Given the description of an element on the screen output the (x, y) to click on. 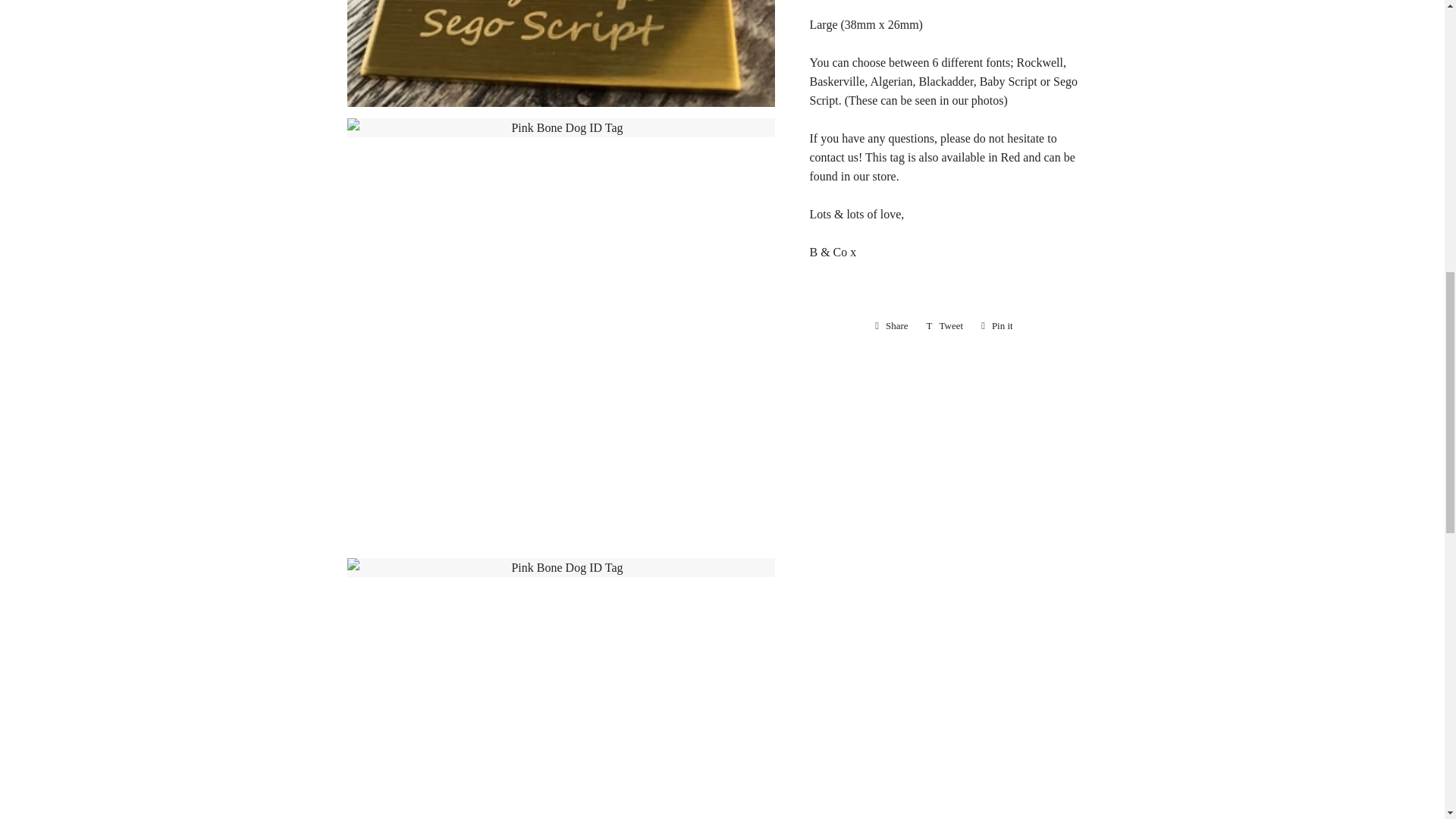
Pin on Pinterest (997, 325)
Tweet on Twitter (944, 325)
Share on Facebook (944, 325)
